Given the description of an element on the screen output the (x, y) to click on. 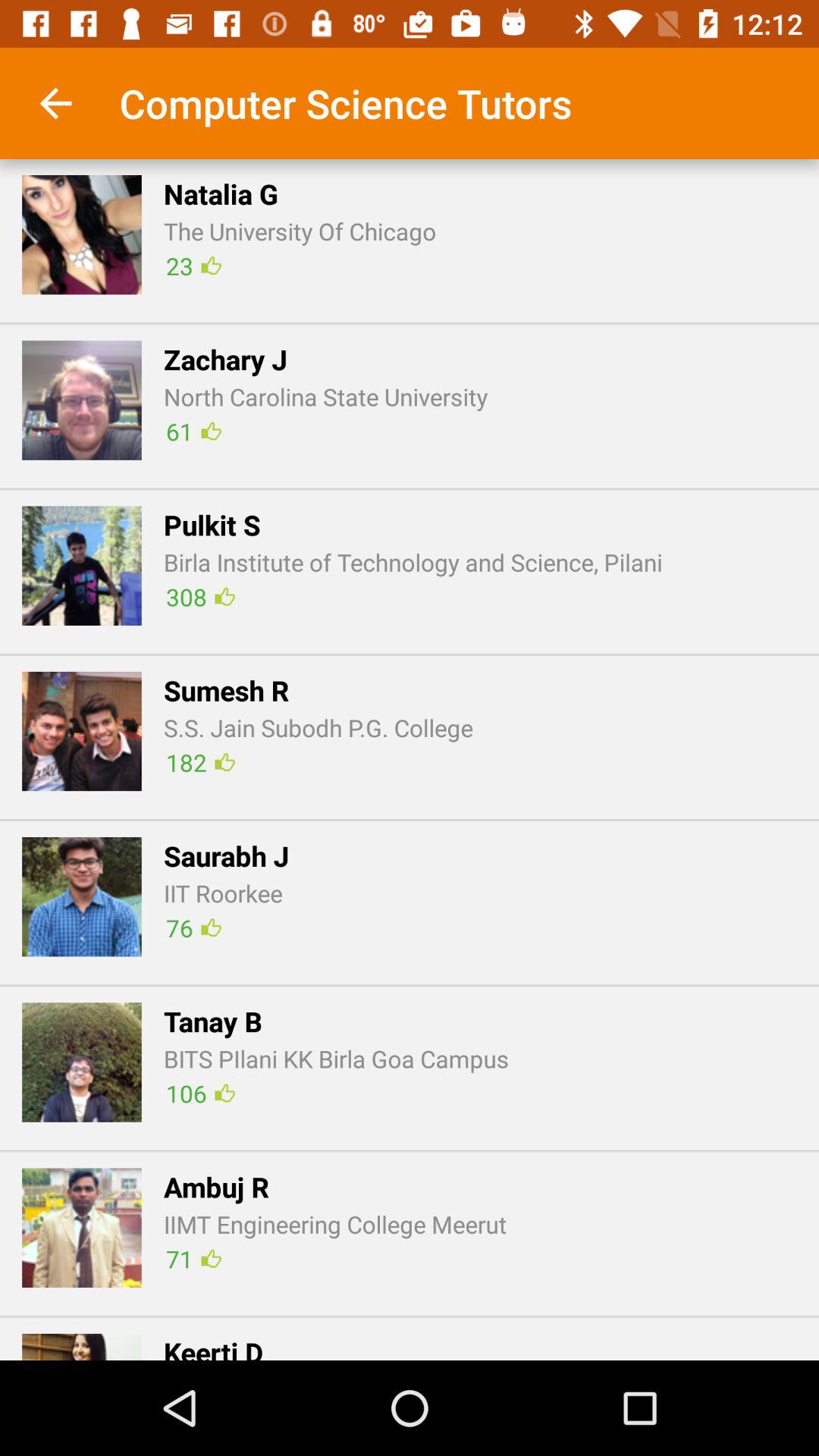
swipe until the iimt engineering college icon (334, 1224)
